Given the description of an element on the screen output the (x, y) to click on. 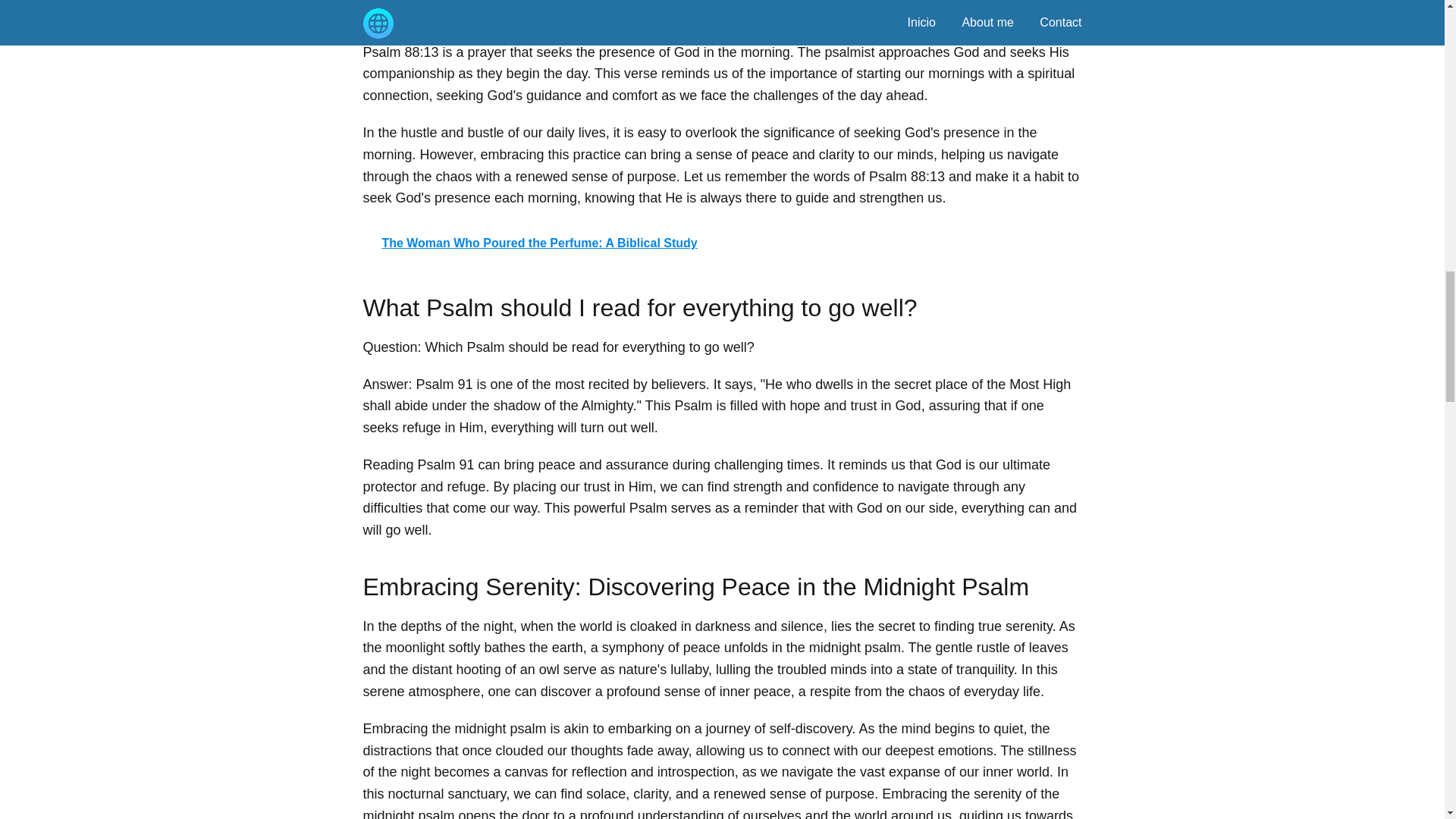
  The Woman Who Poured the Perfume: A Biblical Study (721, 243)
